Given the description of an element on the screen output the (x, y) to click on. 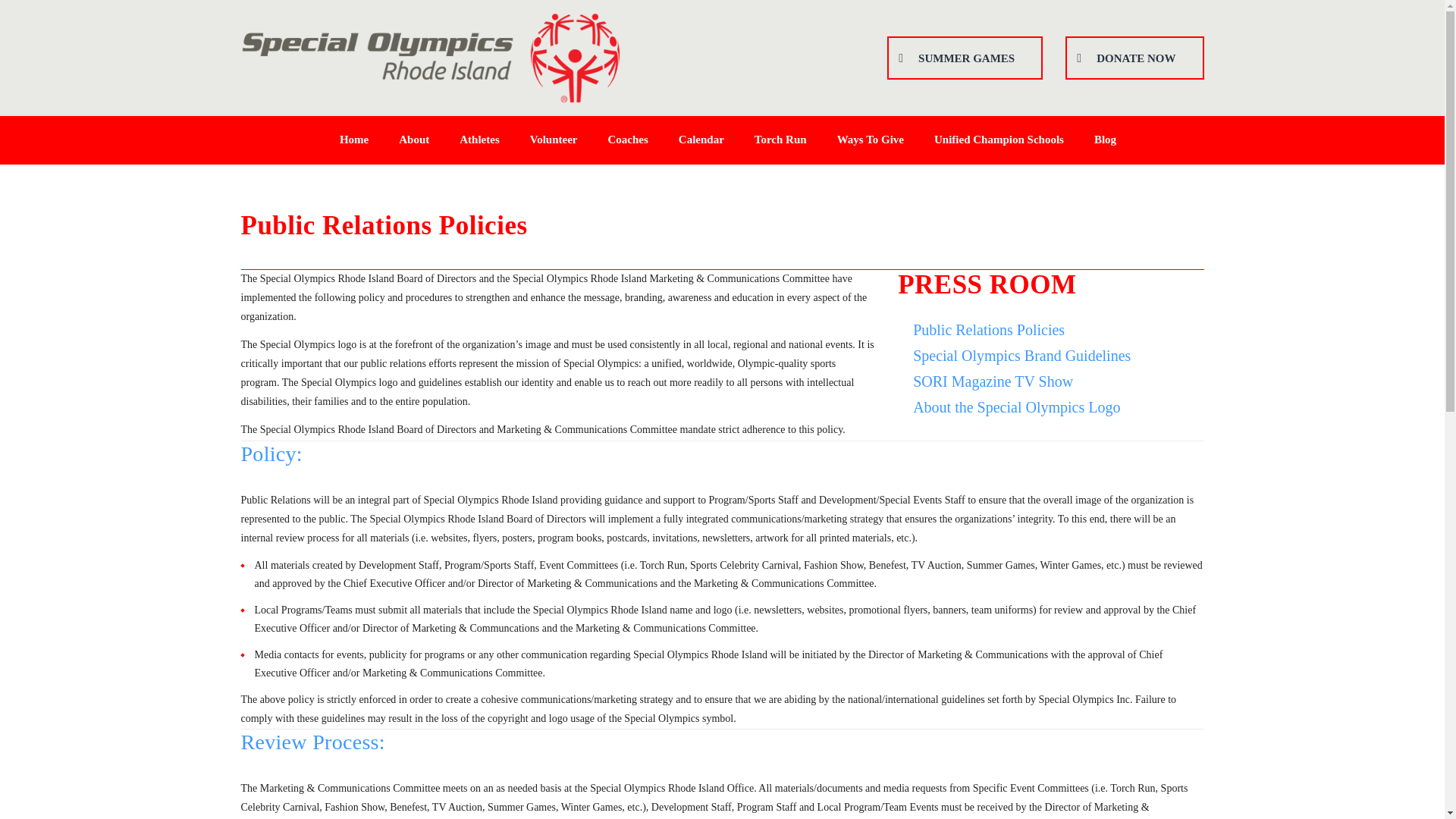
Athletes (479, 140)
About (414, 140)
Special Olympics logo (430, 57)
Volunteer (553, 140)
Calendar (701, 140)
Home (354, 140)
Torch Run (780, 140)
Coaches (627, 140)
DONATE NOW (1134, 57)
Ways To Give (870, 140)
